Given the description of an element on the screen output the (x, y) to click on. 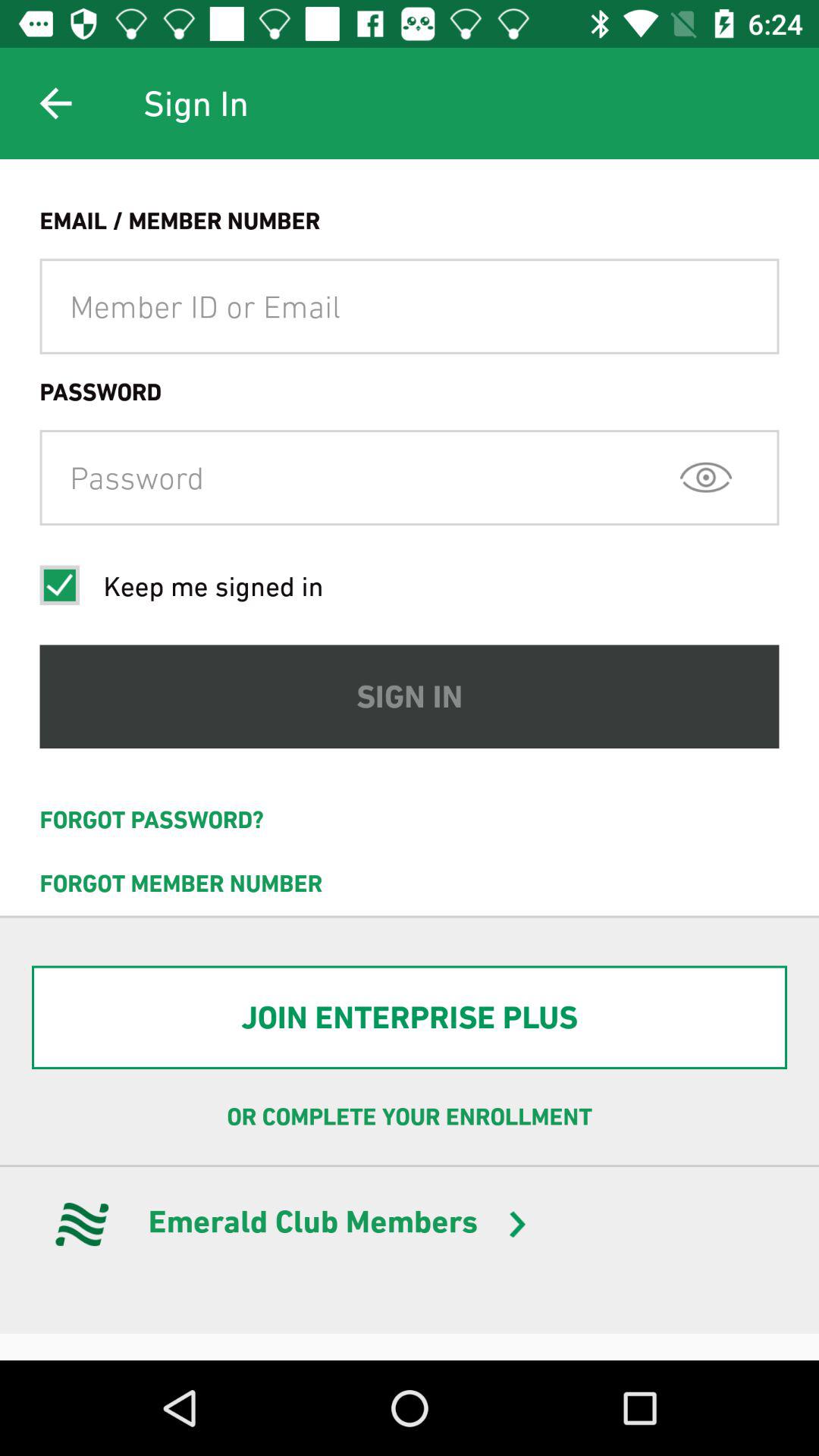
press the item next to the sign in (55, 103)
